Given the description of an element on the screen output the (x, y) to click on. 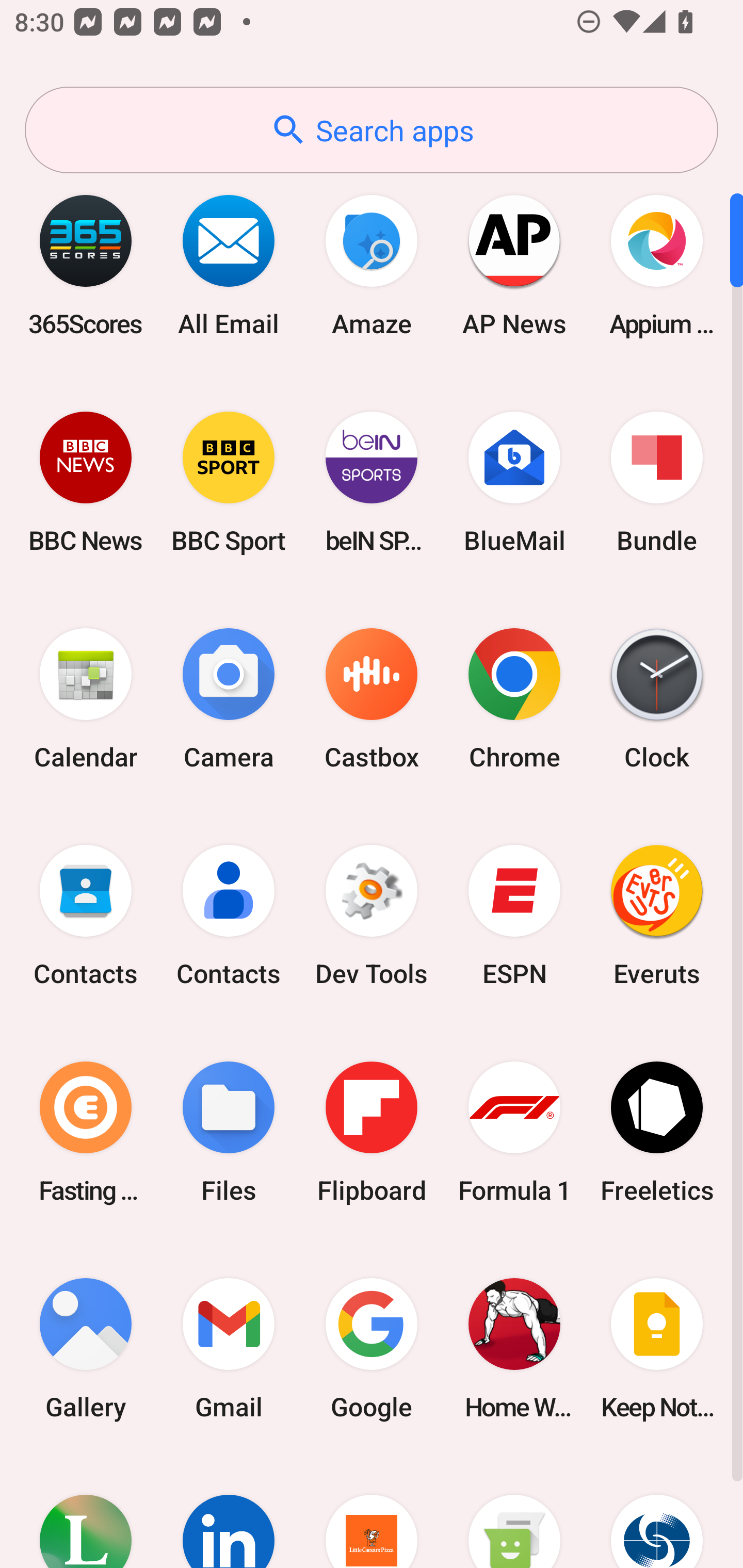
  Search apps (371, 130)
365Scores (85, 264)
All Email (228, 264)
Amaze (371, 264)
AP News (514, 264)
Appium Settings (656, 264)
BBC News (85, 482)
BBC Sport (228, 482)
beIN SPORTS (371, 482)
BlueMail (514, 482)
Bundle (656, 482)
Calendar (85, 699)
Camera (228, 699)
Castbox (371, 699)
Chrome (514, 699)
Clock (656, 699)
Contacts (85, 915)
Contacts (228, 915)
Dev Tools (371, 915)
ESPN (514, 915)
Everuts (656, 915)
Fasting Coach (85, 1131)
Files (228, 1131)
Flipboard (371, 1131)
Formula 1 (514, 1131)
Freeletics (656, 1131)
Gallery (85, 1348)
Gmail (228, 1348)
Google (371, 1348)
Home Workout (514, 1348)
Keep Notes (656, 1348)
